Given the description of an element on the screen output the (x, y) to click on. 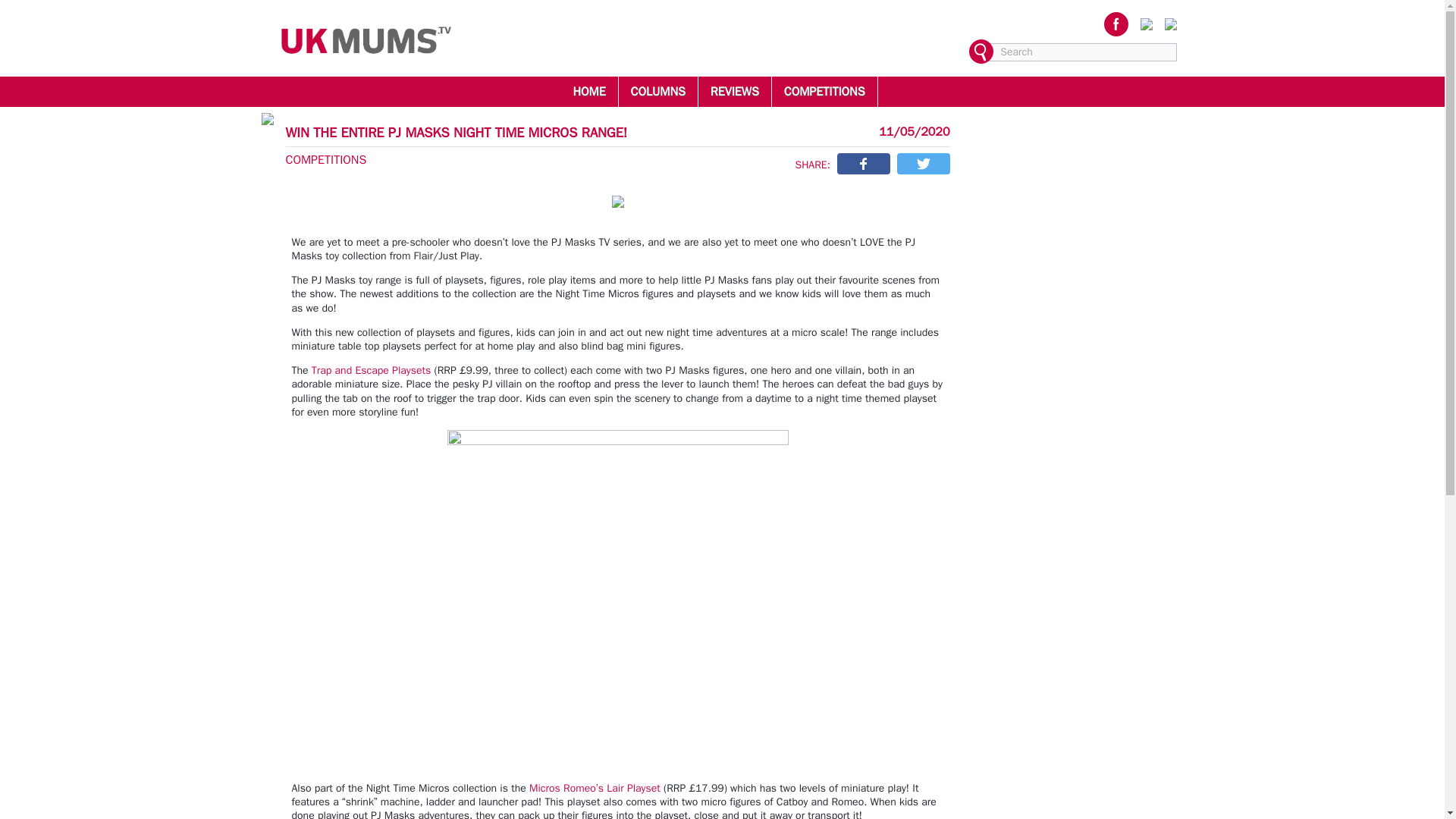
HOME (588, 91)
REVIEWS (734, 91)
COMPETITIONS (824, 91)
WIN THE ENTIRE PJ MASKS NIGHT TIME MICROS RANGE! (456, 132)
COLUMNS (657, 91)
COMPETITIONS (325, 160)
